Given the description of an element on the screen output the (x, y) to click on. 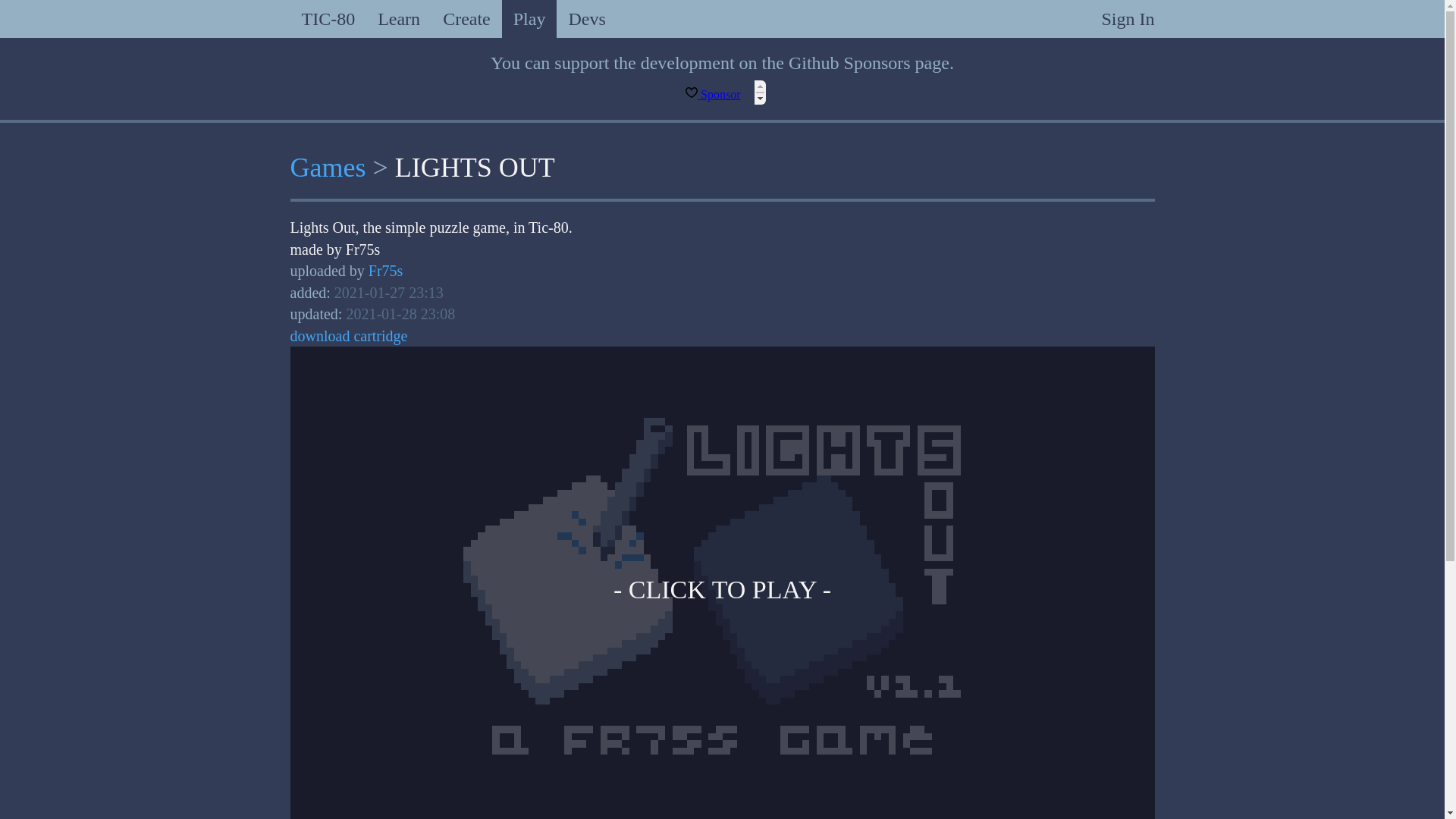
Fr75s (385, 270)
download cartridge (348, 335)
Games (327, 167)
Create (466, 18)
Learn (398, 18)
TIC-80 (327, 18)
Sign In (1127, 18)
Play (529, 18)
Devs (585, 18)
